Given the description of an element on the screen output the (x, y) to click on. 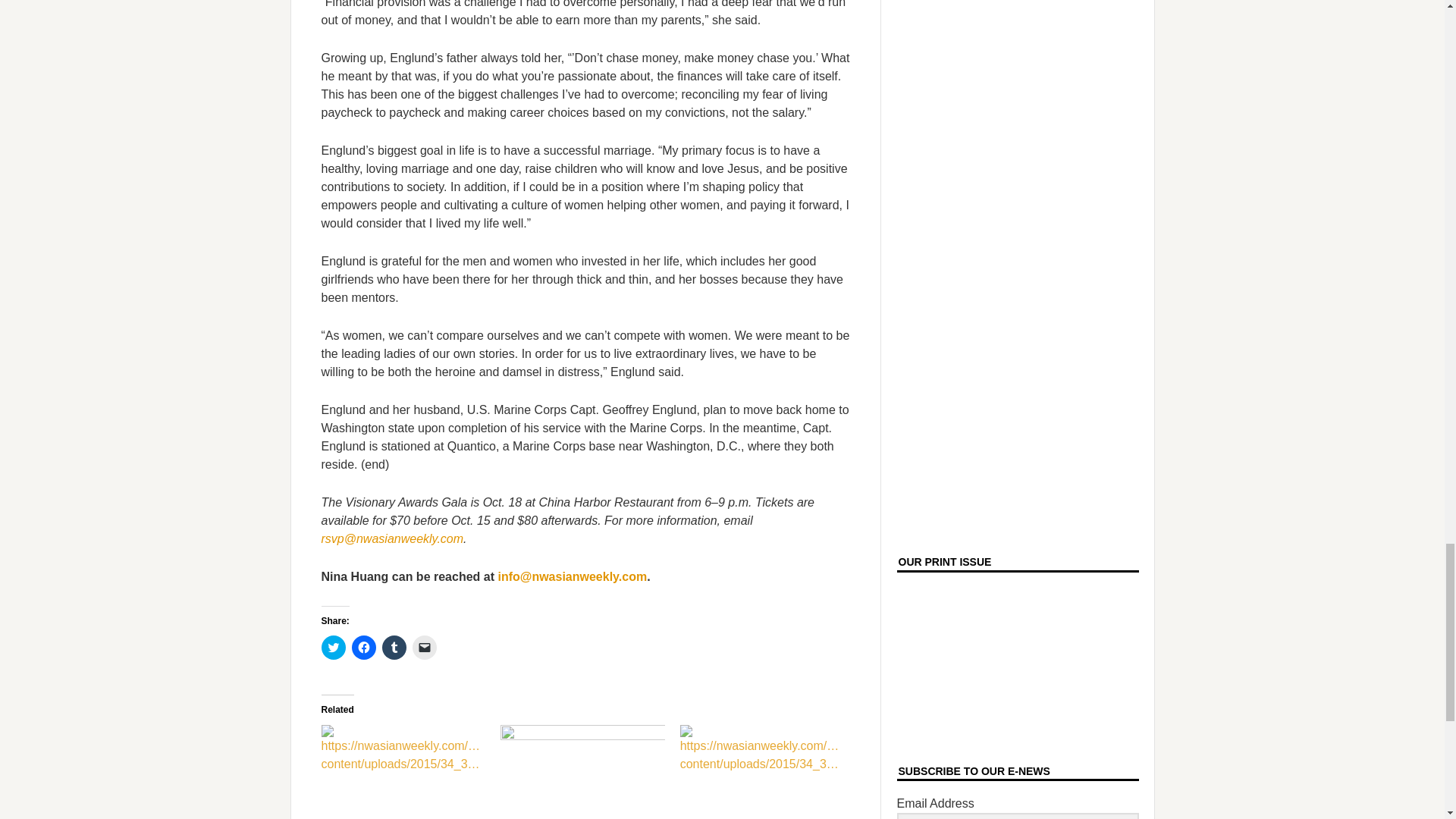
Click to share on Facebook (363, 647)
Click to share on Twitter (333, 647)
Click to share on Tumblr (393, 647)
Click to email a link to a friend (424, 647)
PICTORIAL: Visionary gala honors 10 APAs (582, 771)
Jinyoung Lee Englund receives Maverick award (403, 771)
